Given the description of an element on the screen output the (x, y) to click on. 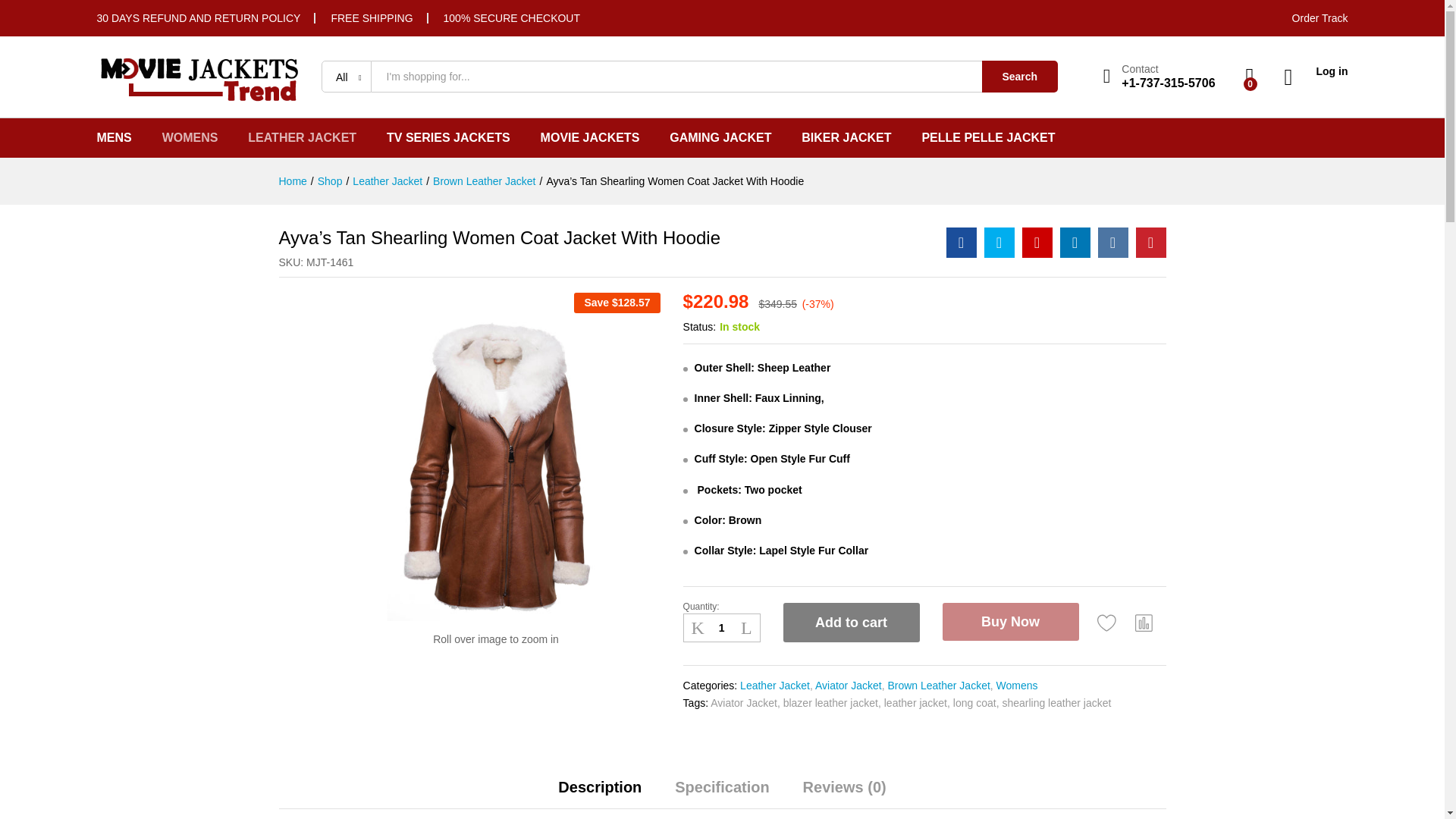
Search (1019, 76)
1 (721, 627)
GAMING JACKET (720, 137)
LEATHER JACKET (301, 137)
Qty (721, 627)
Order Track (1320, 18)
MENS (114, 137)
BIKER JACKET (846, 137)
WOMENS (189, 137)
MOVIE JACKETS (590, 137)
